Given the description of an element on the screen output the (x, y) to click on. 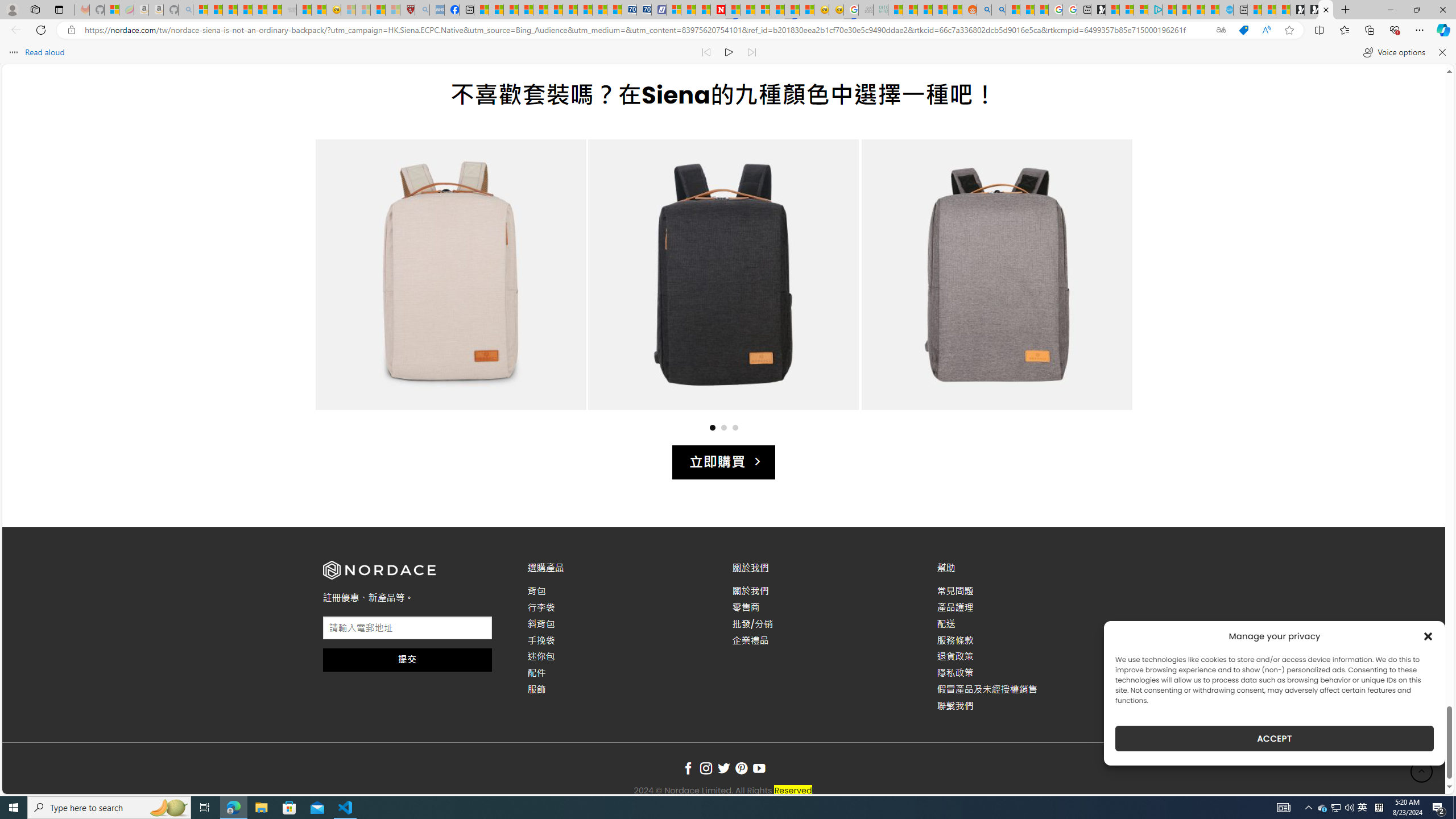
Student Loan Update: Forgiveness Program Ends This Month (939, 9)
